Given the description of an element on the screen output the (x, y) to click on. 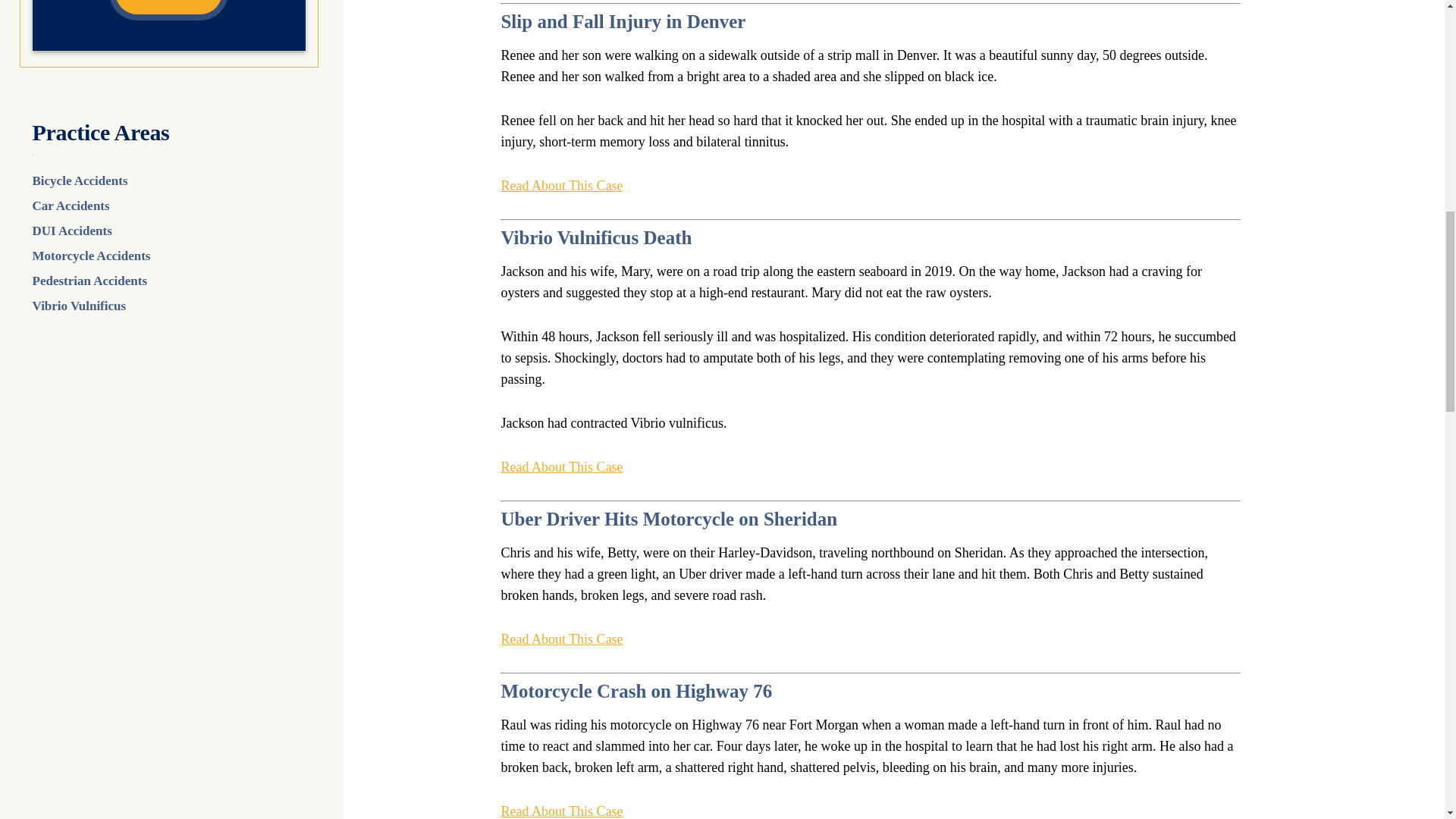
Read About This Case (561, 639)
Read About This Case (561, 466)
Read About This Case (561, 185)
Submit (168, 7)
Read About This Case (561, 809)
